Given the description of an element on the screen output the (x, y) to click on. 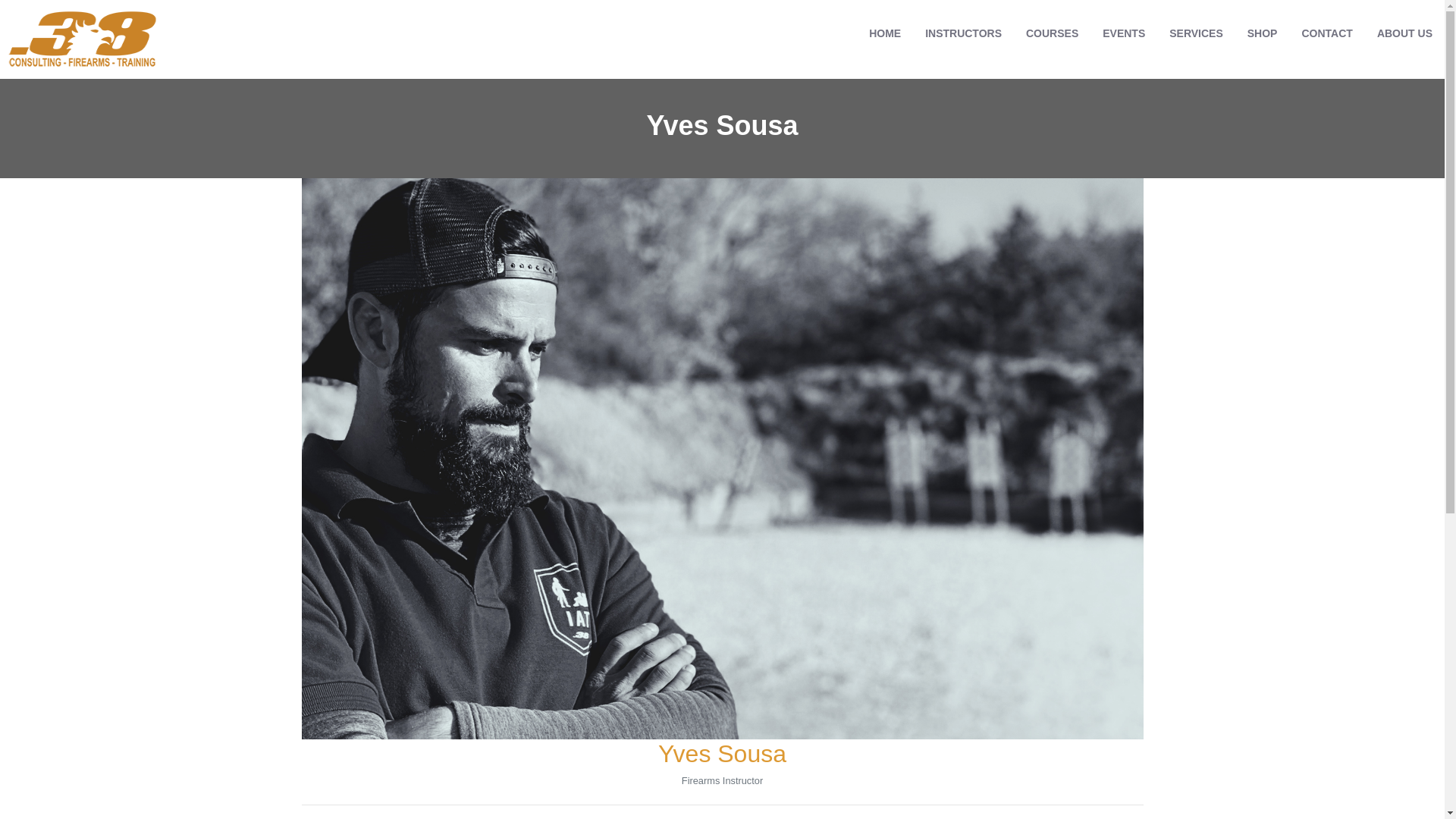
INSTRUCTORS Element type: text (963, 33)
SERVICES Element type: text (1196, 33)
HOME Element type: text (884, 33)
EVENTS Element type: text (1123, 33)
SHOP Element type: text (1262, 33)
COURSES Element type: text (1051, 33)
CONTACT Element type: text (1326, 33)
ABOUT US Element type: text (1404, 33)
